Given the description of an element on the screen output the (x, y) to click on. 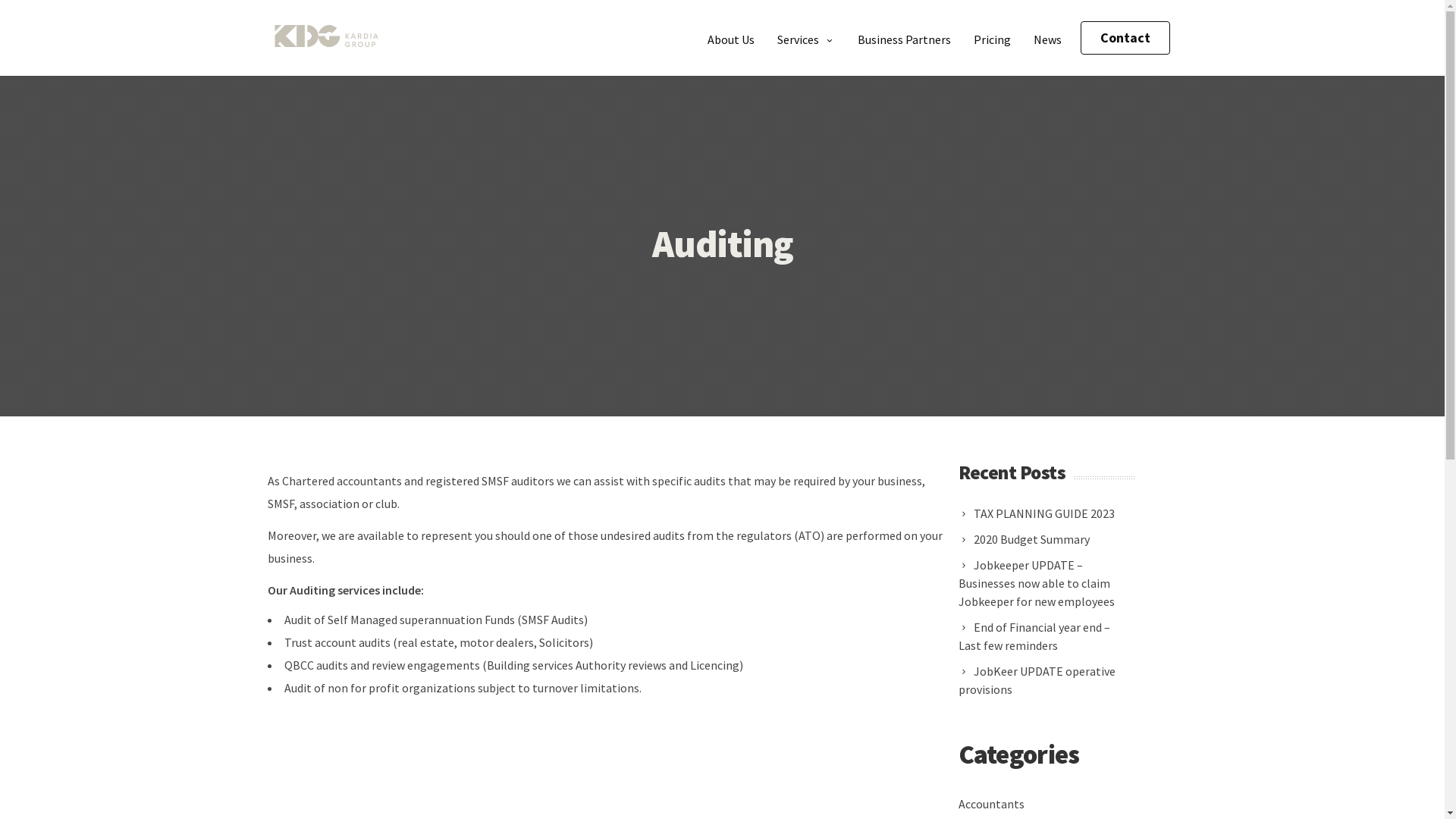
2020 Budget Summary Element type: text (1028, 538)
About Us Element type: text (730, 37)
News Element type: text (1047, 37)
Pricing Element type: text (991, 37)
Services Element type: text (805, 37)
Accountants Element type: text (991, 803)
TAX PLANNING GUIDE 2023 Element type: text (1040, 513)
Contact Element type: text (1124, 37)
JobKeer UPDATE operative provisions Element type: text (1046, 679)
Business Partners Element type: text (904, 37)
